Given the description of an element on the screen output the (x, y) to click on. 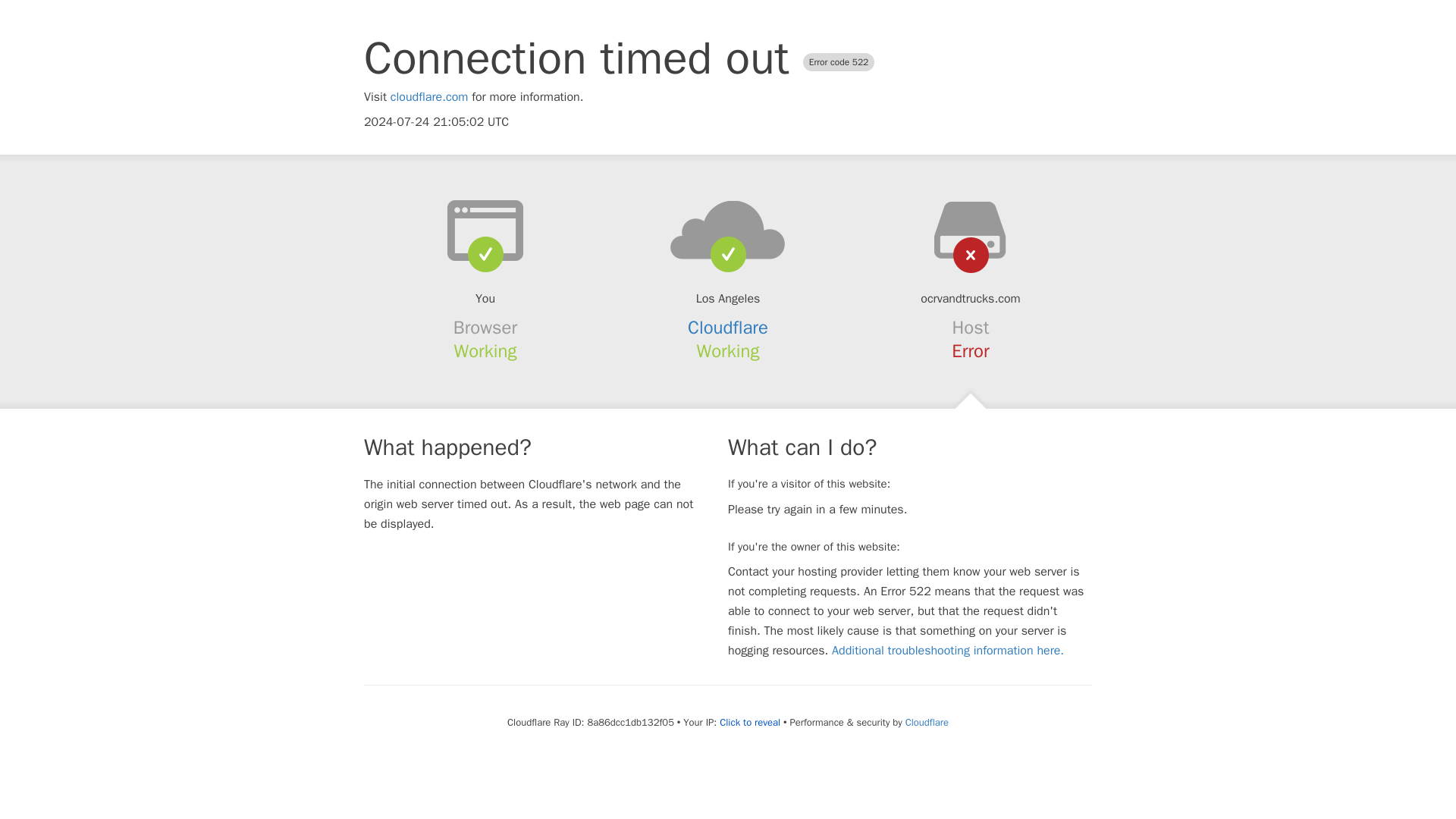
Additional troubleshooting information here. (947, 650)
Cloudflare (727, 327)
cloudflare.com (429, 96)
Click to reveal (749, 722)
Cloudflare (927, 721)
